Given the description of an element on the screen output the (x, y) to click on. 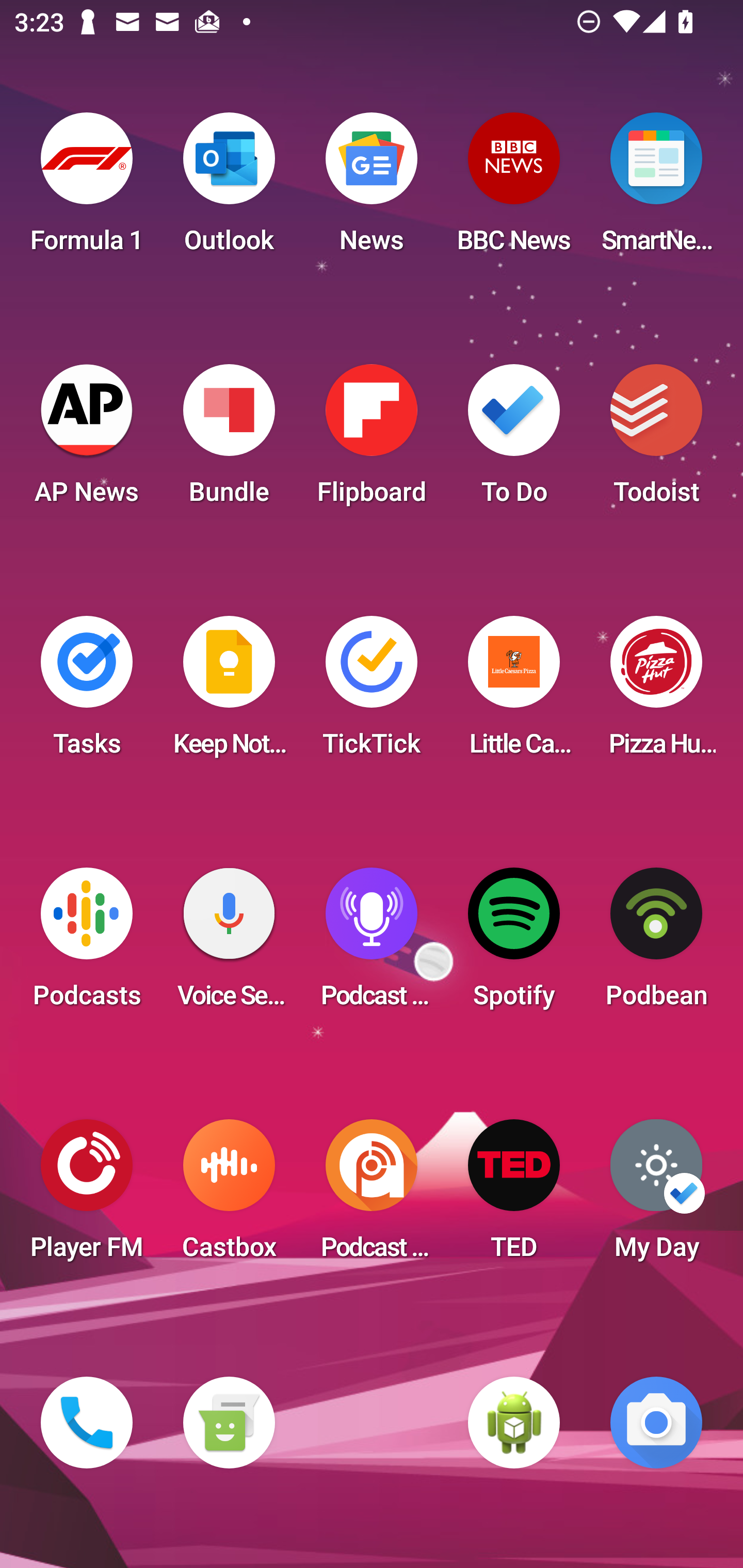
Formula 1 (86, 188)
Outlook (228, 188)
News (371, 188)
BBC News (513, 188)
SmartNews (656, 188)
AP News (86, 440)
Bundle (228, 440)
Flipboard (371, 440)
To Do (513, 440)
Todoist (656, 440)
Tasks (86, 692)
Keep Notes (228, 692)
TickTick (371, 692)
Little Caesars Pizza (513, 692)
Pizza Hut HK & Macau (656, 692)
Podcasts (86, 943)
Voice Search (228, 943)
Podcast Player (371, 943)
Spotify (513, 943)
Podbean (656, 943)
Player FM (86, 1195)
Castbox (228, 1195)
Podcast Addict (371, 1195)
TED (513, 1195)
My Day (656, 1195)
Phone (86, 1422)
Messaging (228, 1422)
WebView Browser Tester (513, 1422)
Camera (656, 1422)
